Given the description of an element on the screen output the (x, y) to click on. 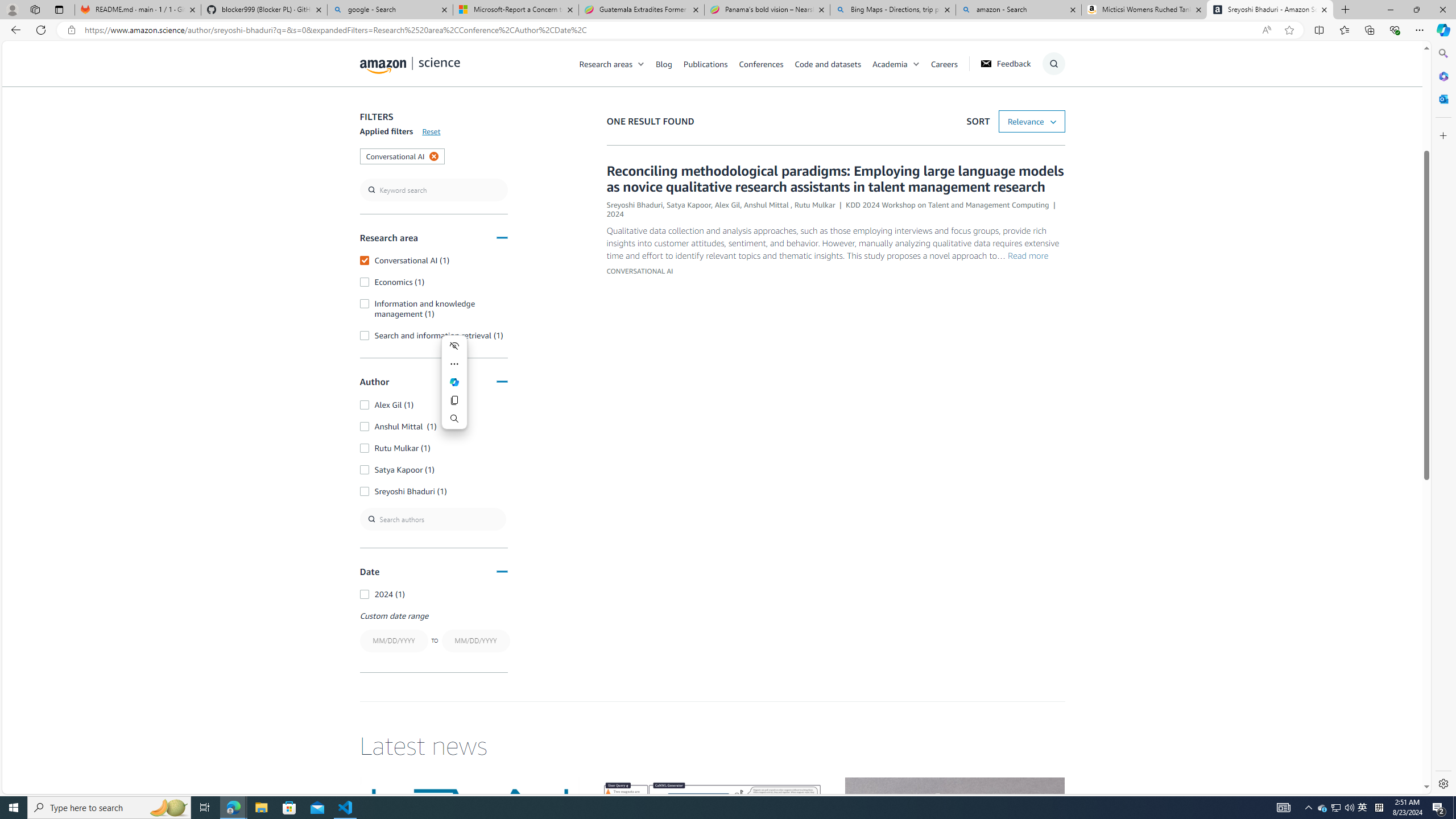
Outlook (1442, 98)
Sreyoshi Bhaduri (633, 204)
search (433, 190)
Feedback (1004, 63)
Copilot (Ctrl+Shift+.) (1442, 29)
Split screen (1318, 29)
Alex Gil (727, 204)
Microsoft 365 (1442, 76)
